Given the description of an element on the screen output the (x, y) to click on. 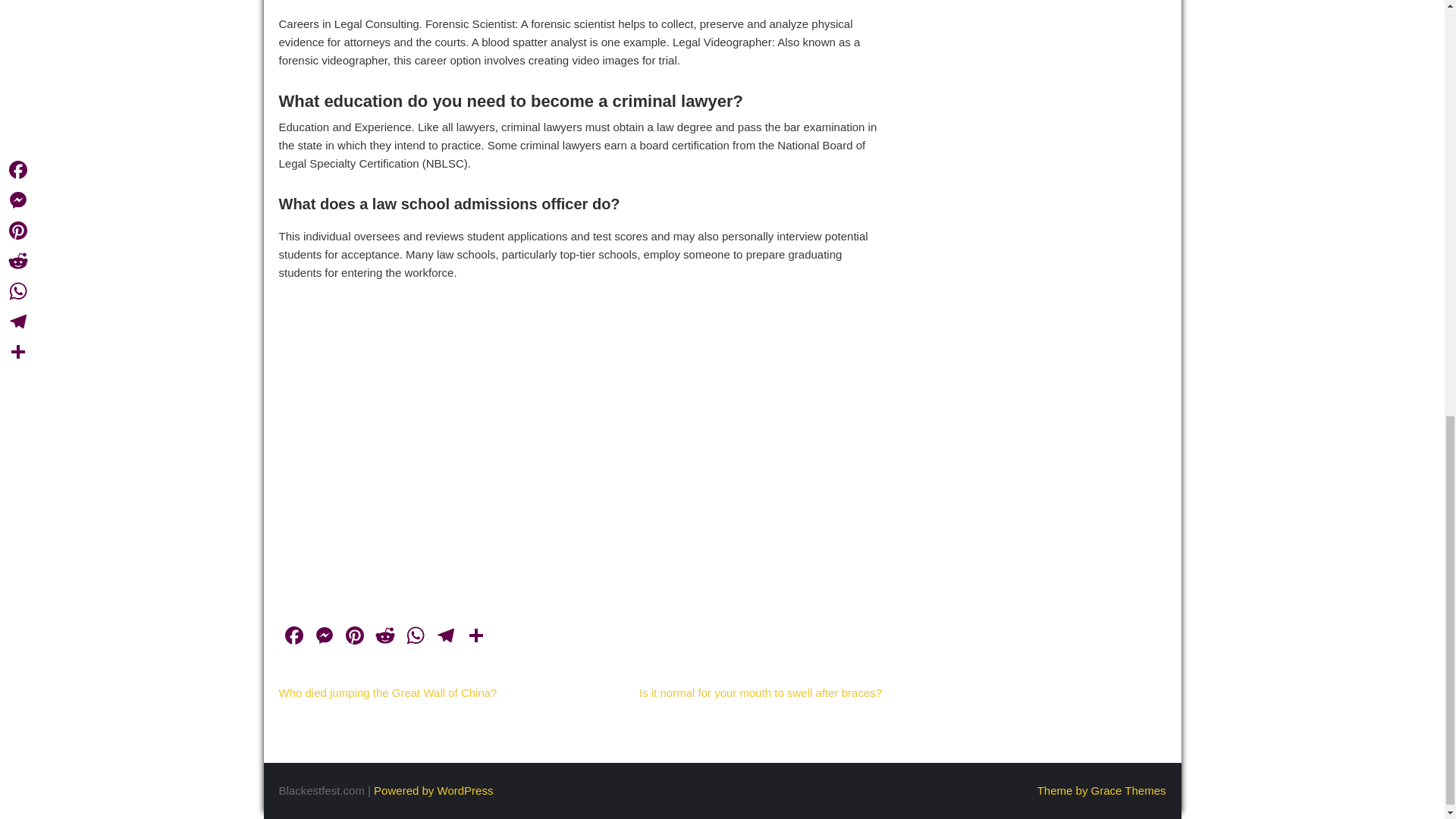
Reddit (384, 637)
Pinterest (354, 637)
Facebook (293, 637)
WhatsApp (415, 637)
Telegram (445, 637)
Powered by WordPress (433, 789)
Who died jumping the Great Wall of China? (388, 692)
Reddit (384, 637)
Messenger (323, 637)
